Given the description of an element on the screen output the (x, y) to click on. 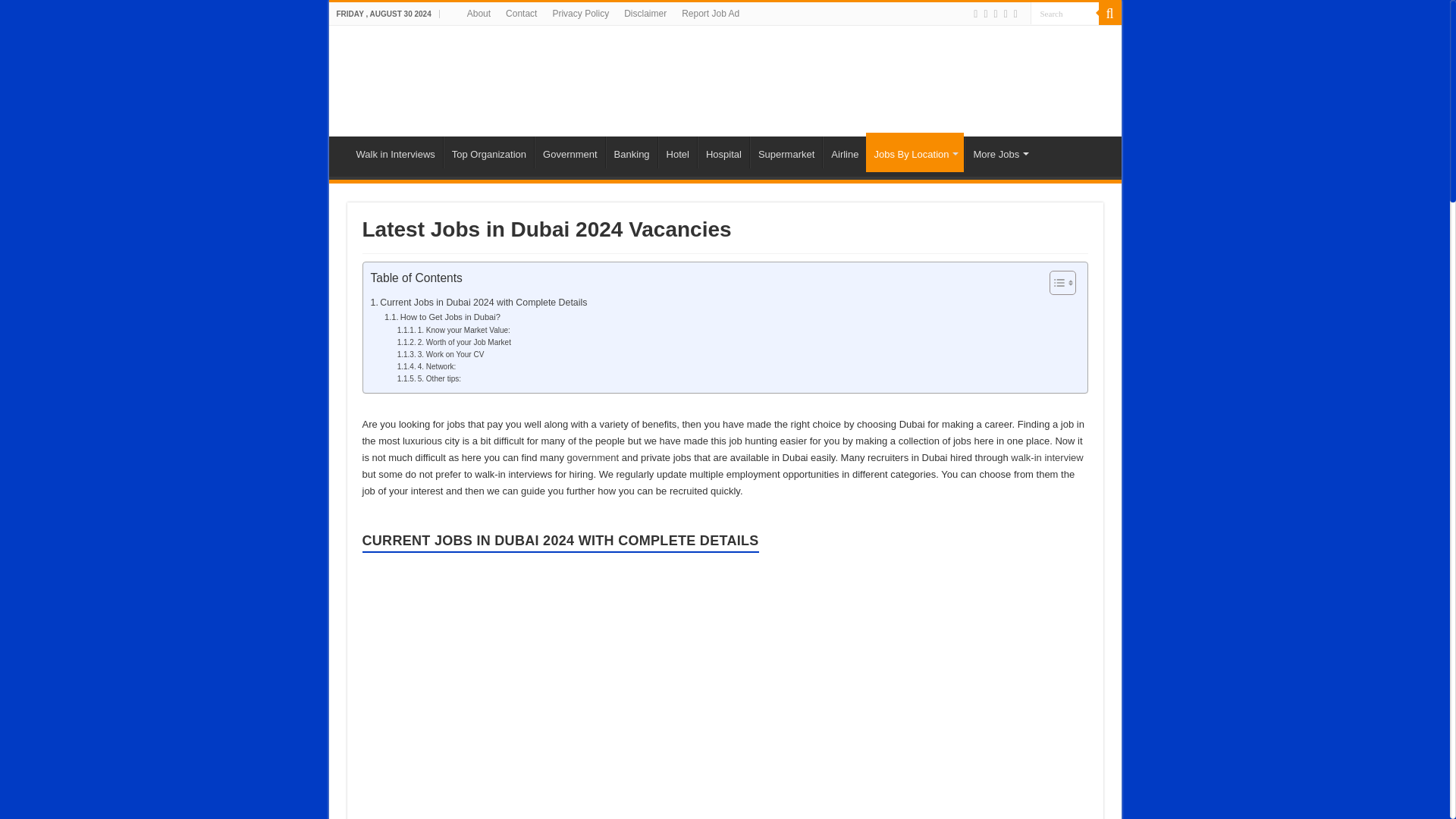
Airline (844, 152)
Disclaimer (644, 13)
More Jobs (998, 152)
Hospital (723, 152)
Contact (520, 13)
Walk in Interviews (395, 152)
About Us (478, 13)
Supermarket (785, 152)
Search (1063, 13)
Privacy Policy (579, 13)
